Given the description of an element on the screen output the (x, y) to click on. 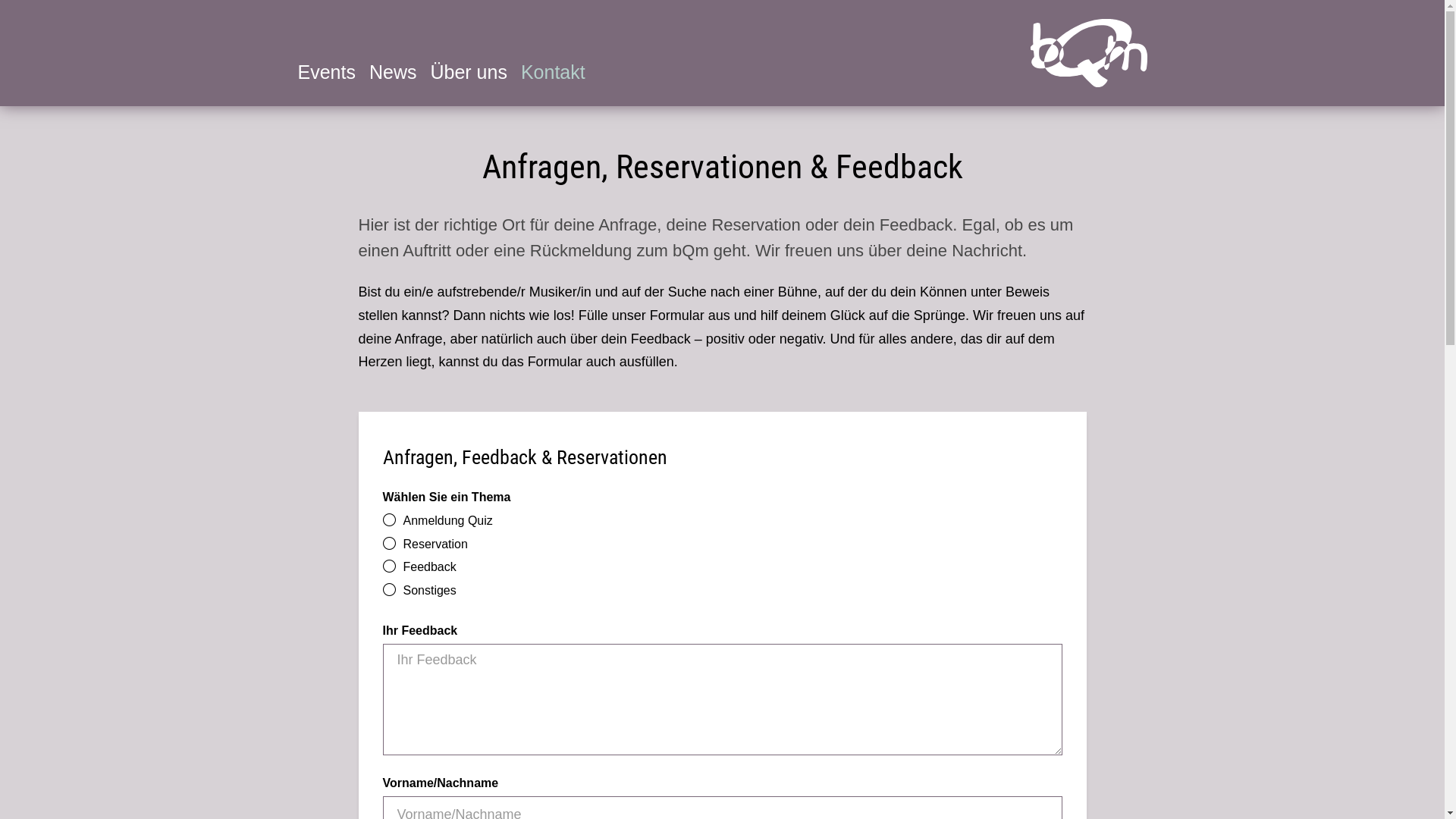
News Element type: text (393, 72)
Kontakt Element type: text (552, 72)
Events Element type: text (325, 72)
